Given the description of an element on the screen output the (x, y) to click on. 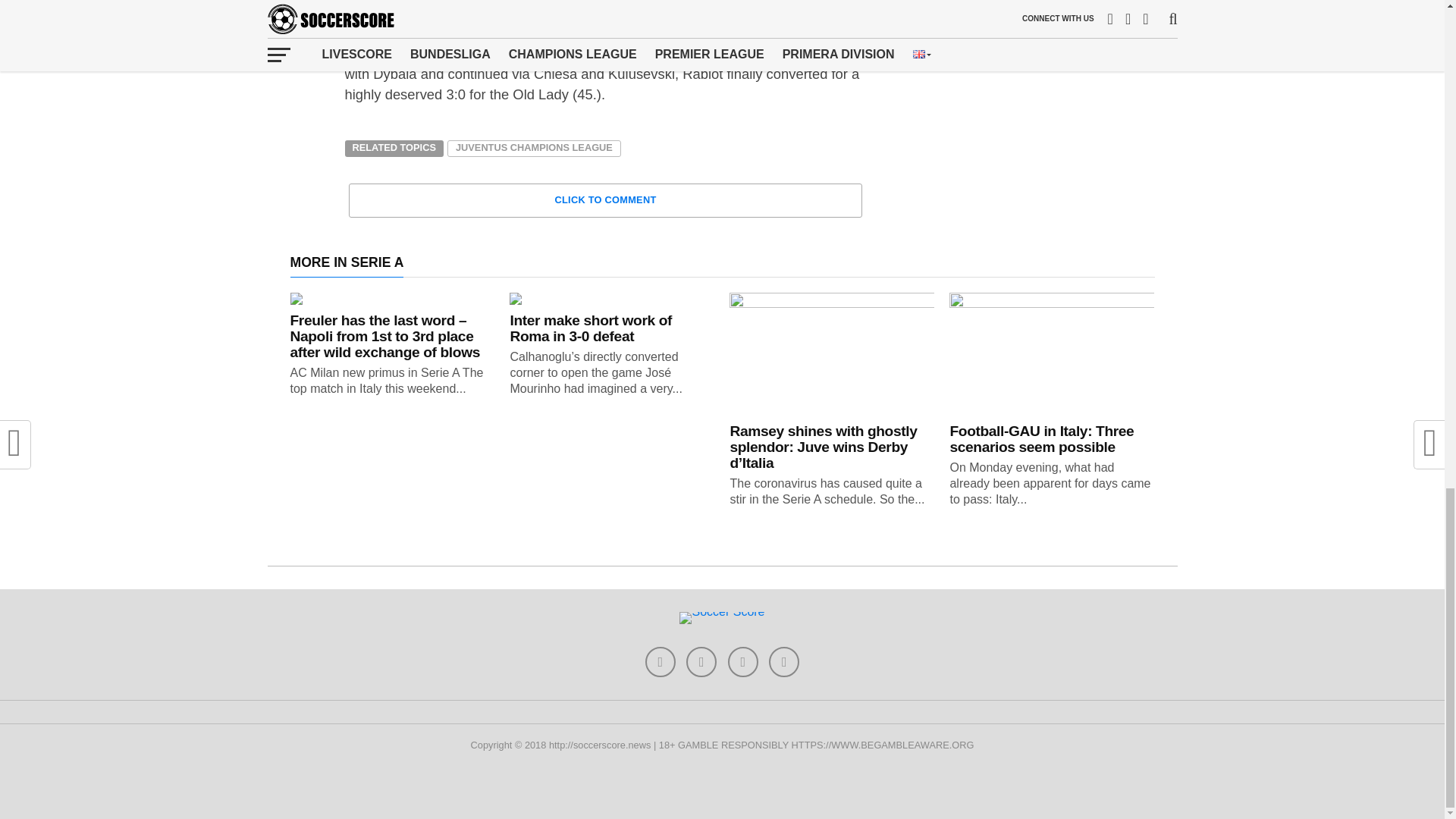
JUVENTUS CHAMPIONS LEAGUE (533, 148)
